Given the description of an element on the screen output the (x, y) to click on. 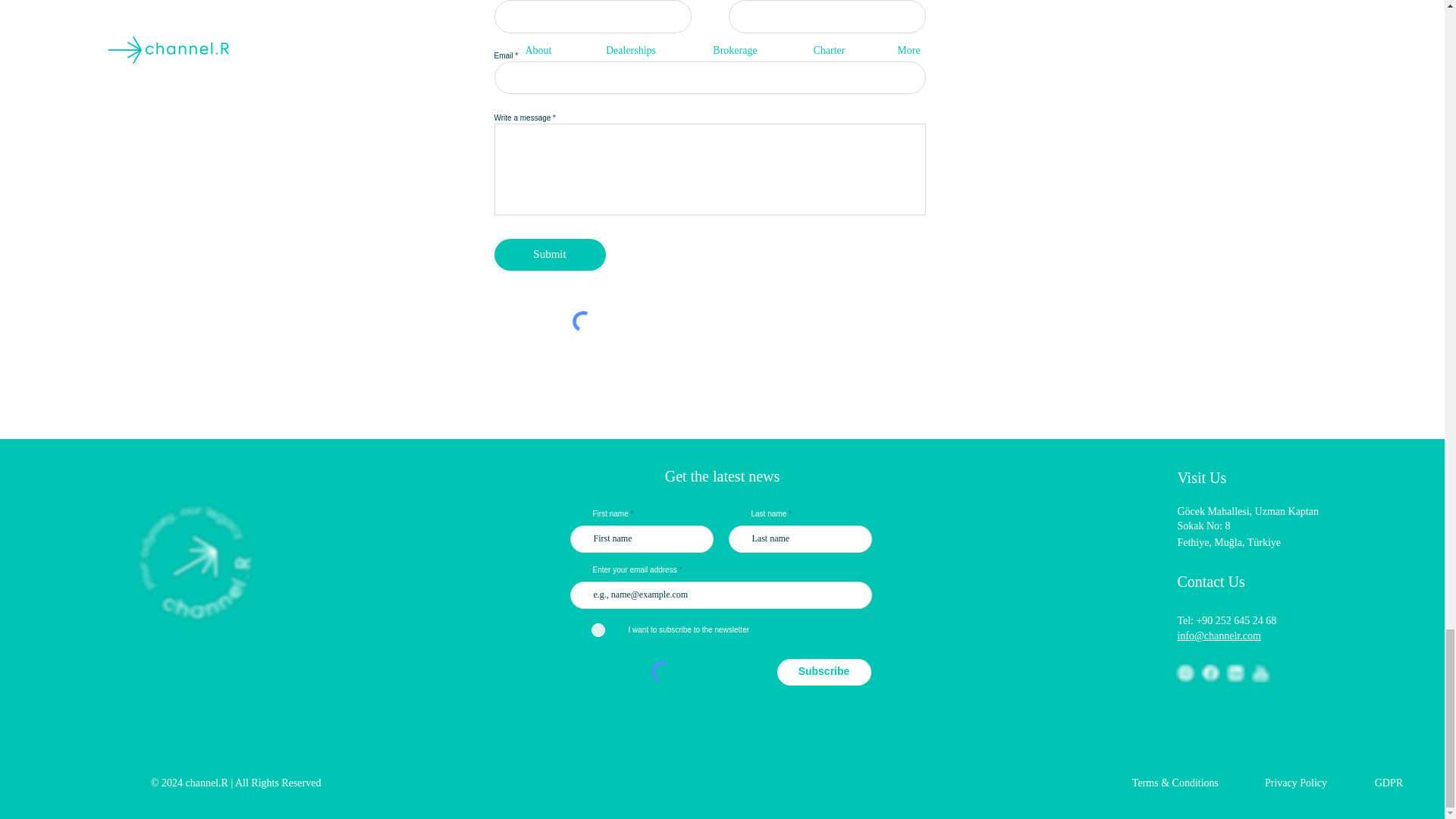
GDPR (1388, 782)
Submit (550, 255)
Privacy Policy (1295, 782)
Subscribe (823, 672)
